Given the description of an element on the screen output the (x, y) to click on. 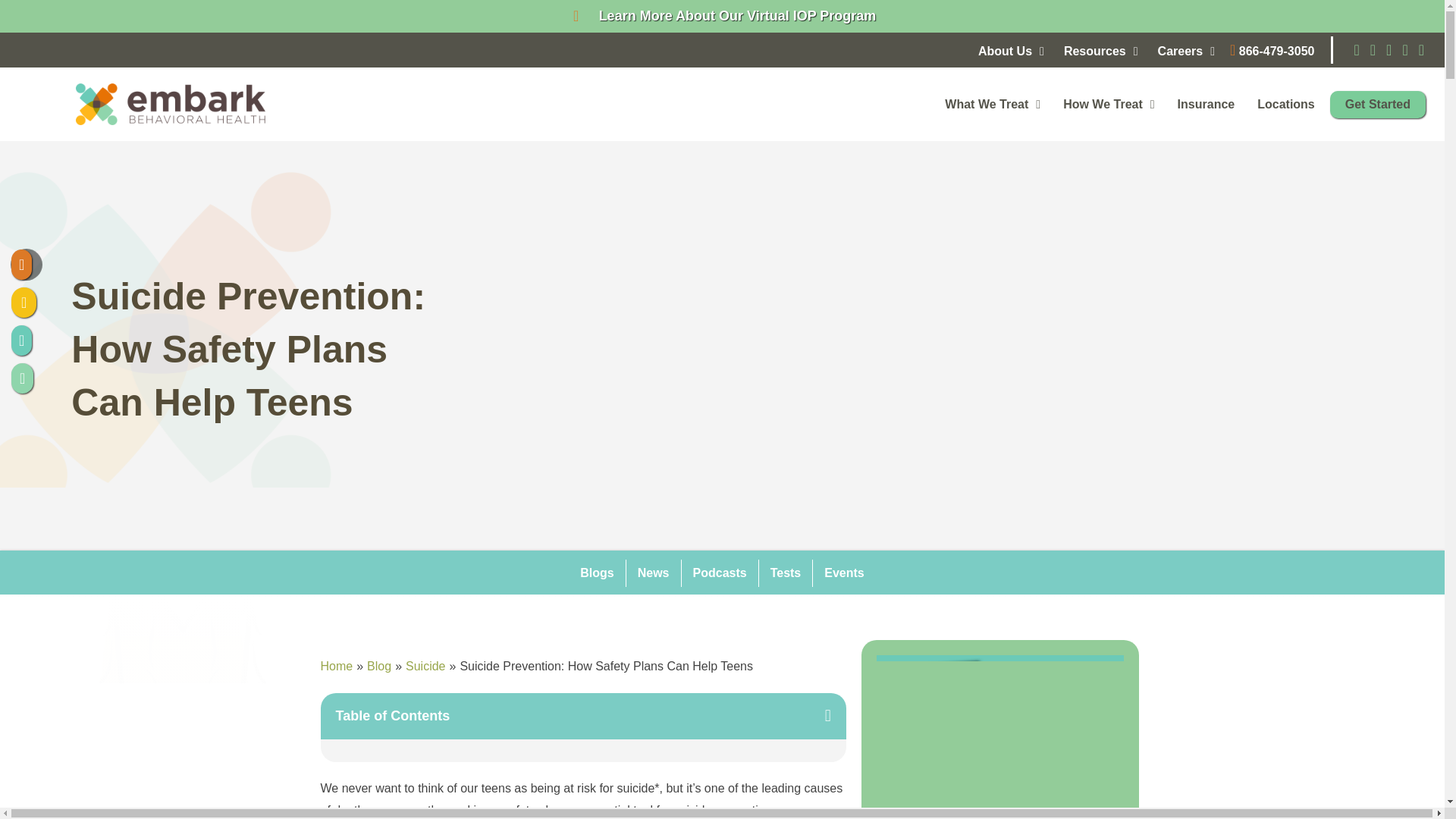
866-479-3050 (1272, 49)
Parenting Guide Download CTA (1000, 721)
About Us (1010, 51)
Careers (1186, 51)
Resources (1101, 51)
